Given the description of an element on the screen output the (x, y) to click on. 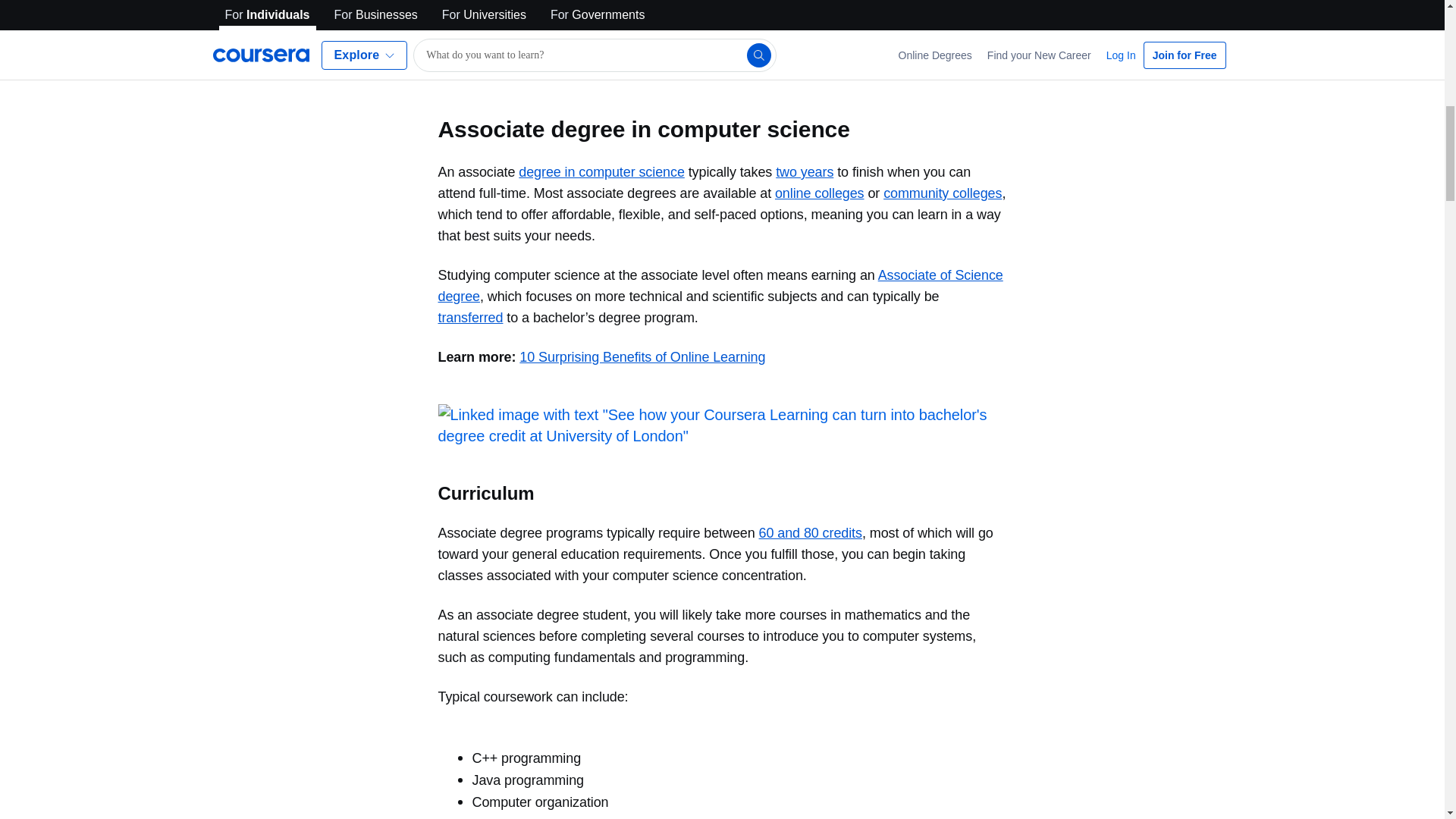
two years (804, 171)
transferred (470, 317)
community colleges (942, 192)
degree in computer science (601, 171)
Associate of Science degree (720, 285)
online colleges (819, 192)
60 and 80 credits (809, 532)
10 Surprising Benefits of Online Learning (642, 356)
